Given the description of an element on the screen output the (x, y) to click on. 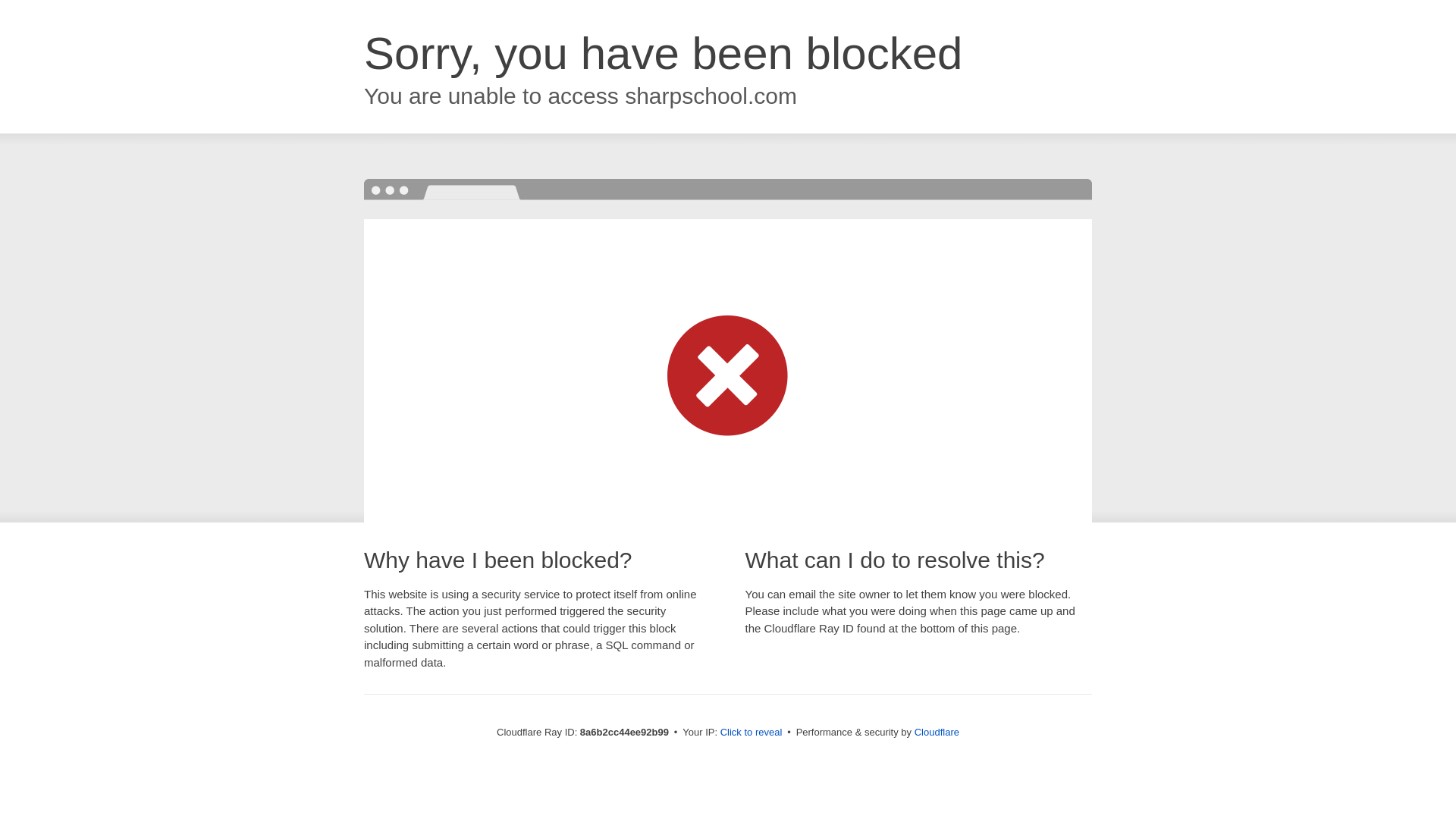
Cloudflare (936, 731)
Click to reveal (751, 732)
